Given the description of an element on the screen output the (x, y) to click on. 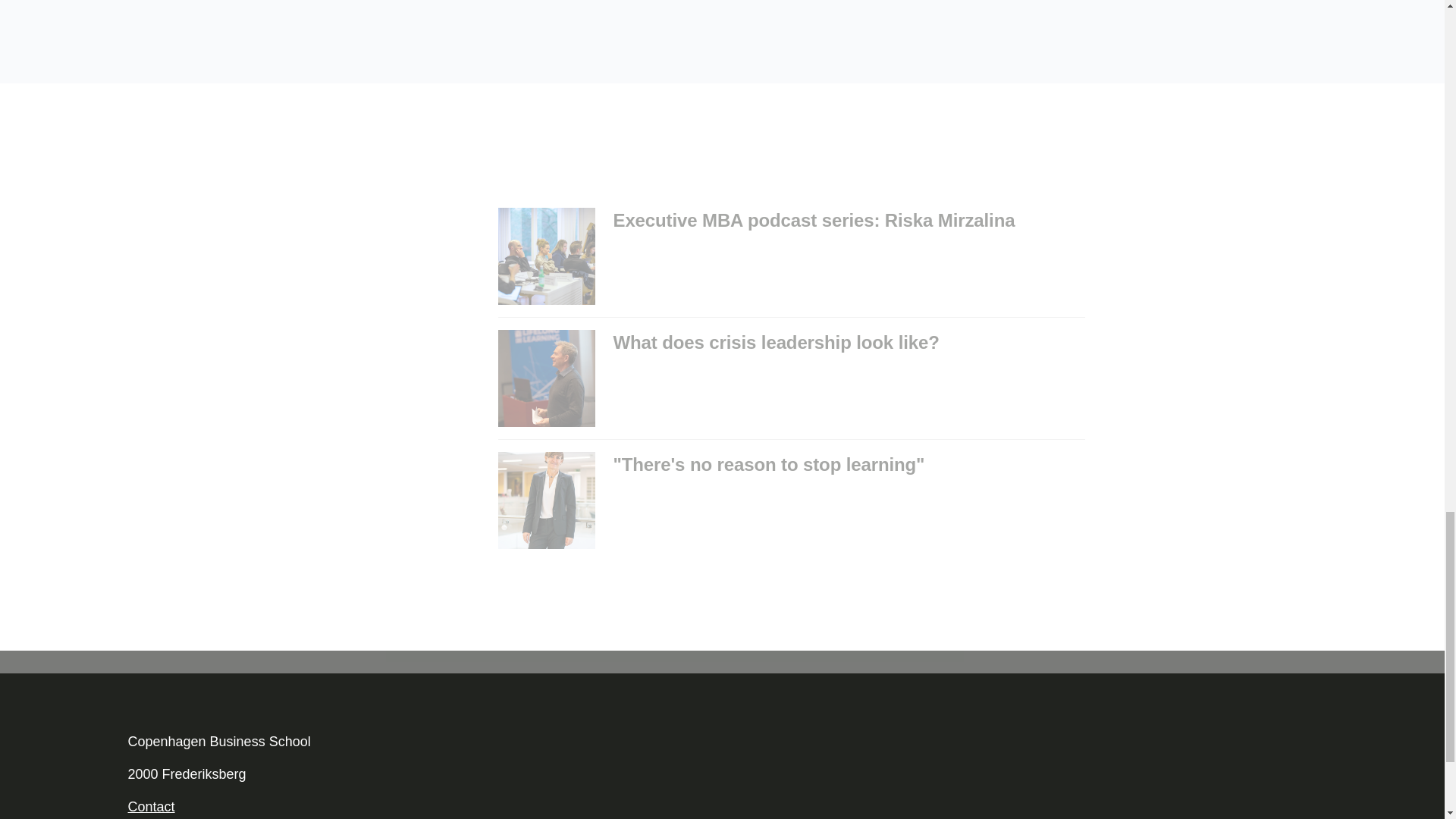
Executive MBA podcast series: Riska Mirzalina (790, 256)
What does crisis leadership look like? (790, 378)
Contact (151, 806)
"There's no reason to stop learning" (790, 500)
